Given the description of an element on the screen output the (x, y) to click on. 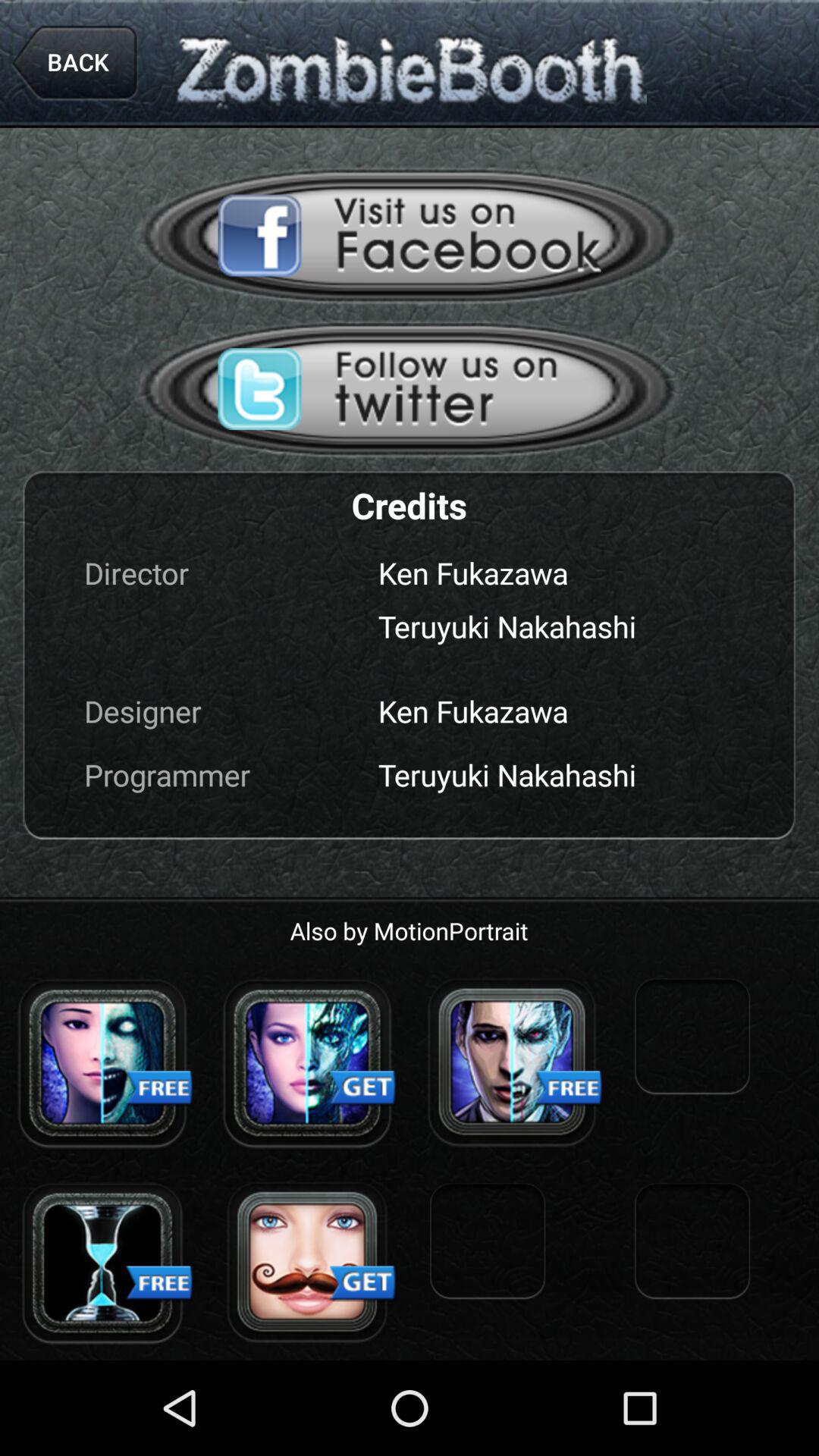
view mustache effect option (306, 1262)
